Given the description of an element on the screen output the (x, y) to click on. 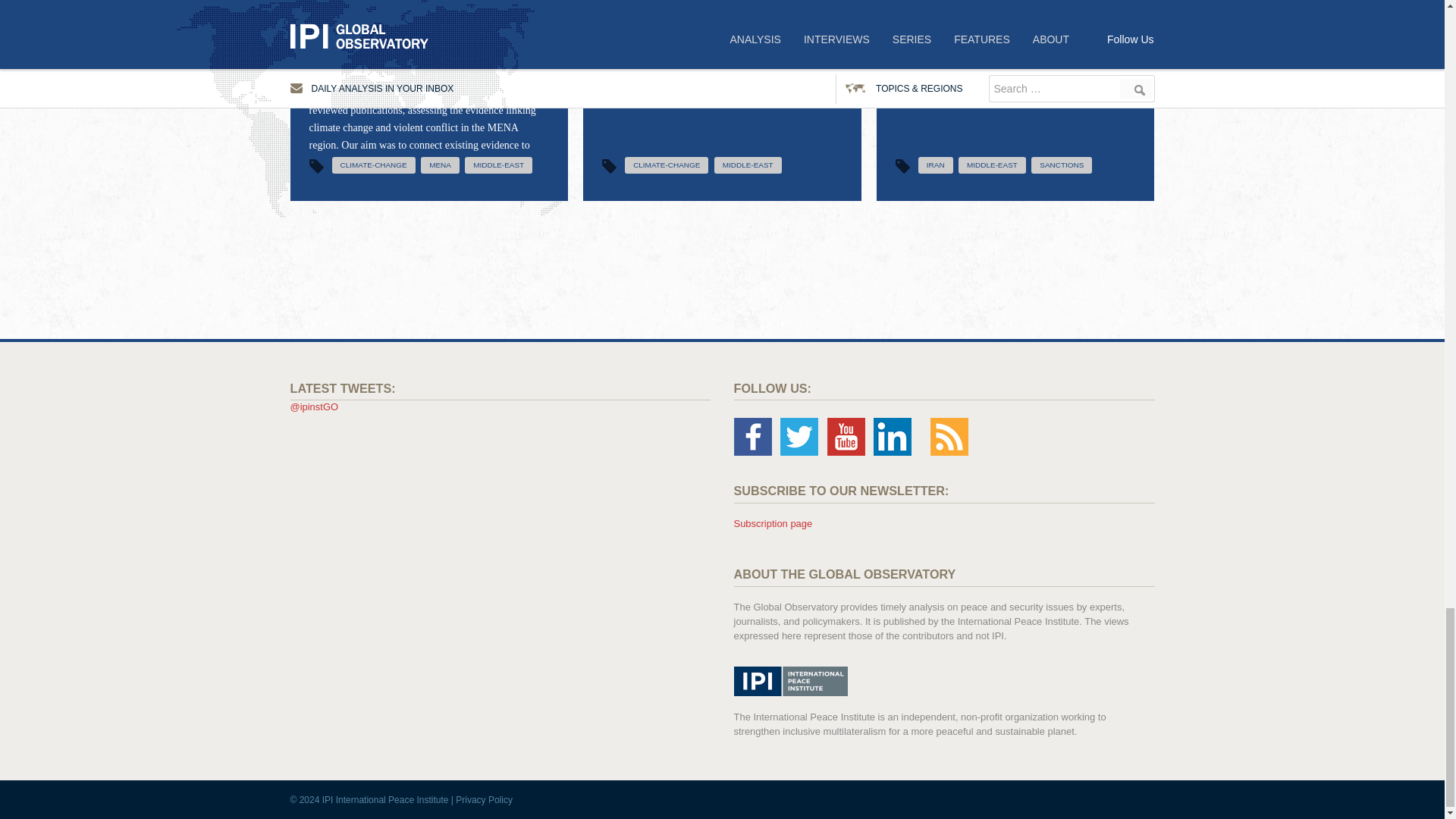
Facebook (752, 436)
Twitter (799, 436)
LinkedIn (892, 436)
Youtube (845, 436)
RSS (949, 436)
